Given the description of an element on the screen output the (x, y) to click on. 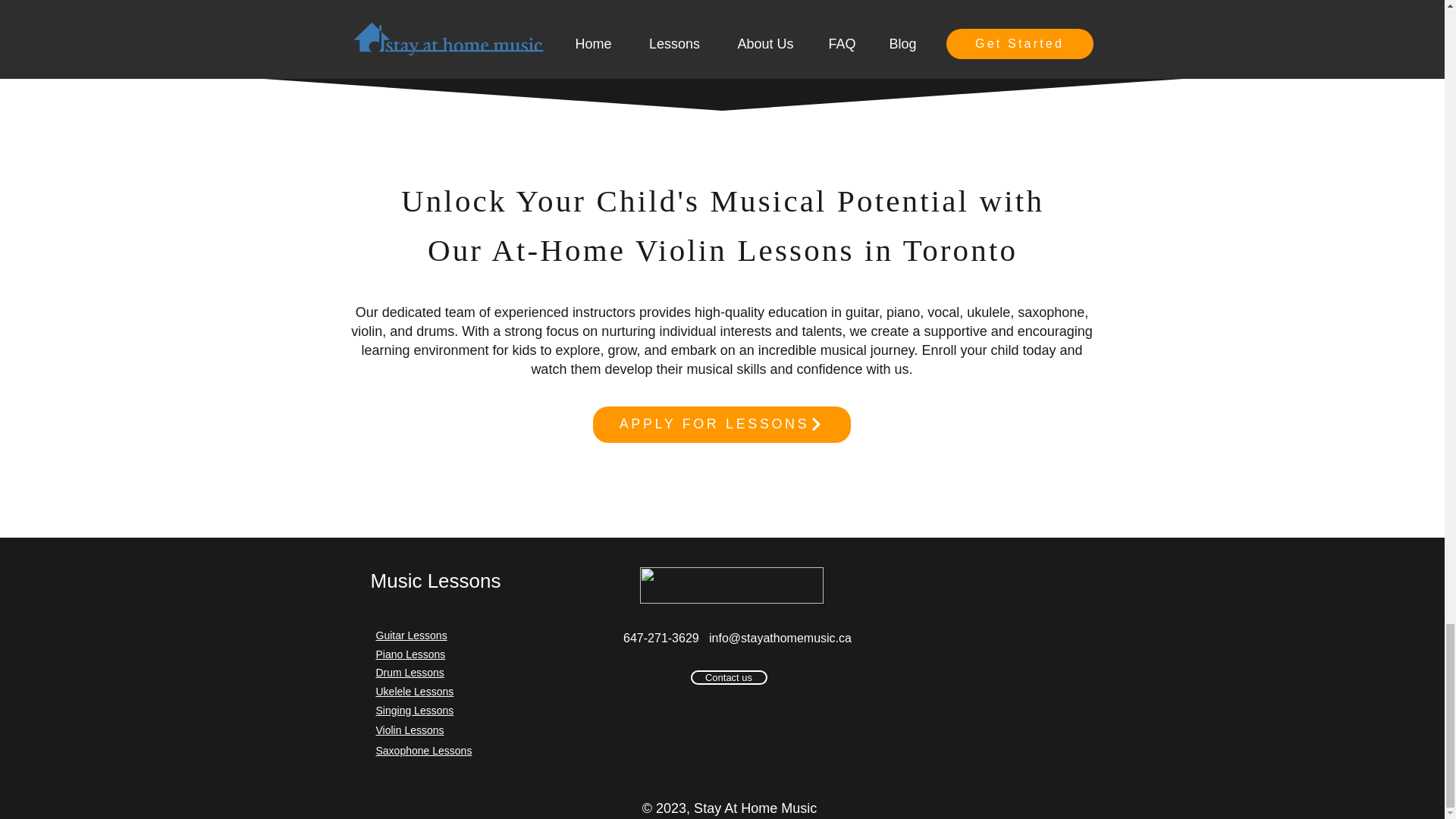
Singing Lessons (414, 710)
Guitar Lessons (410, 635)
Ukelele Lessons (414, 691)
Piano Lessons (410, 654)
Drum Lessons (409, 672)
Saxophone Lessons (423, 750)
Violin Lessons (409, 729)
APPLY FOR LESSONS (721, 424)
Contact us (728, 677)
